Given the description of an element on the screen output the (x, y) to click on. 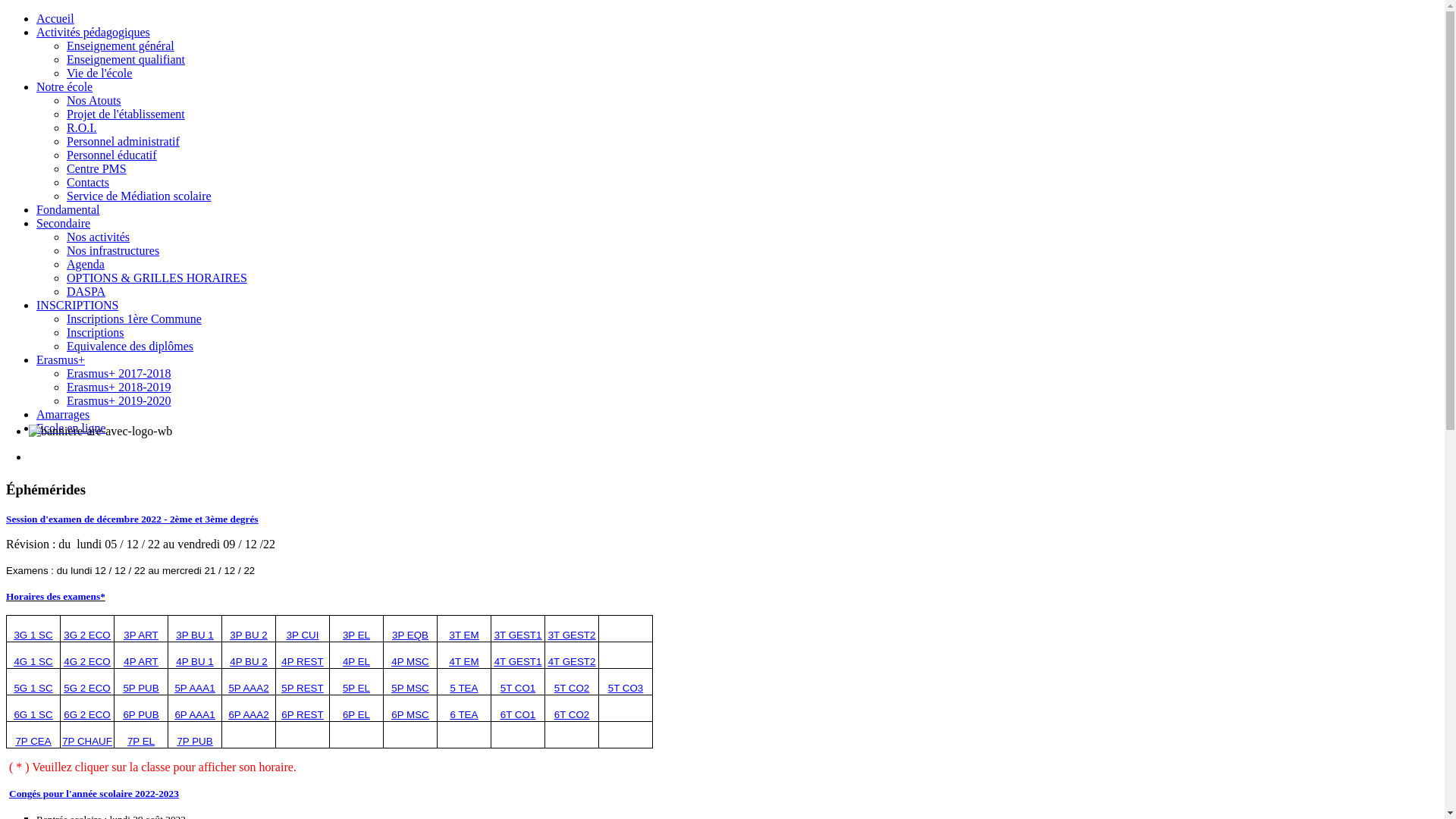
3P CUI Element type: text (302, 633)
7P CEA Element type: text (32, 740)
5G 2 ECO Element type: text (86, 686)
6P AAA1 Element type: text (194, 713)
Nos Atouts Element type: text (93, 100)
4P REST Element type: text (302, 660)
5P REST Element type: text (302, 686)
6T CO2 Element type: text (571, 713)
Ecole en ligne Element type: text (71, 427)
Personnel administratif Element type: text (122, 140)
3P EQB Element type: text (410, 633)
3T EM Element type: text (463, 633)
7P PUB Element type: text (194, 740)
3T GEST2 Element type: text (572, 633)
Agenda Element type: text (85, 263)
4P EL Element type: text (356, 660)
Inscriptions Element type: text (95, 332)
4P ART Element type: text (140, 660)
4G 1 SC Element type: text (32, 660)
6P AAA2 Element type: text (248, 713)
7P EL Element type: text (140, 740)
Erasmus+ 2018-2019 Element type: text (118, 386)
4P MSC Element type: text (409, 660)
R.O.I. Element type: text (81, 127)
5P EL Element type: text (356, 686)
Enseignement qualifiant Element type: text (125, 59)
6G 1 SC Element type: text (32, 713)
5G 1 SC Element type: text (32, 686)
5T CO3 Element type: text (625, 686)
5T CO2 Element type: text (571, 686)
4T EM Element type: text (463, 660)
4T GEST2 Element type: text (572, 660)
4P BU 2 Element type: text (247, 660)
Centre PMS Element type: text (96, 168)
3P ART Element type: text (140, 633)
6T CO1 Element type: text (517, 713)
6 TEA Element type: text (464, 713)
4G 2 ECO Element type: text (86, 660)
Accueil Element type: text (55, 18)
3T GEST1 Element type: text (518, 633)
Contacts Element type: text (87, 181)
3P EL Element type: text (356, 633)
6P PUB Element type: text (140, 713)
6P EL Element type: text (356, 713)
5T CO1 Element type: text (517, 686)
5P MSC Element type: text (409, 686)
Amarrages Element type: text (62, 413)
3P BU 2 Element type: text (247, 633)
Erasmus+ 2019-2020 Element type: text (118, 400)
Erasmus+ Element type: text (60, 359)
7P CHAUF Element type: text (87, 740)
3G 2 ECO Element type: text (86, 633)
4P BU 1 Element type: text (194, 660)
Erasmus+ 2017-2018 Element type: text (118, 373)
Fondamental Element type: text (68, 209)
Secondaire Element type: text (63, 222)
5P AAA2 Element type: text (248, 686)
6P REST Element type: text (302, 713)
6P MSC Element type: text (409, 713)
3P BU 1 Element type: text (194, 633)
Nos infrastructures Element type: text (112, 250)
INSCRIPTIONS Element type: text (77, 304)
5P AAA1 Element type: text (194, 686)
5 TEA Element type: text (464, 686)
DASPA Element type: text (85, 291)
3G 1 SC Element type: text (32, 633)
OPTIONS & GRILLES HORAIRES Element type: text (156, 277)
6G 2 ECO Element type: text (86, 713)
5P PUB Element type: text (140, 686)
4T GEST1 Element type: text (518, 660)
